Given the description of an element on the screen output the (x, y) to click on. 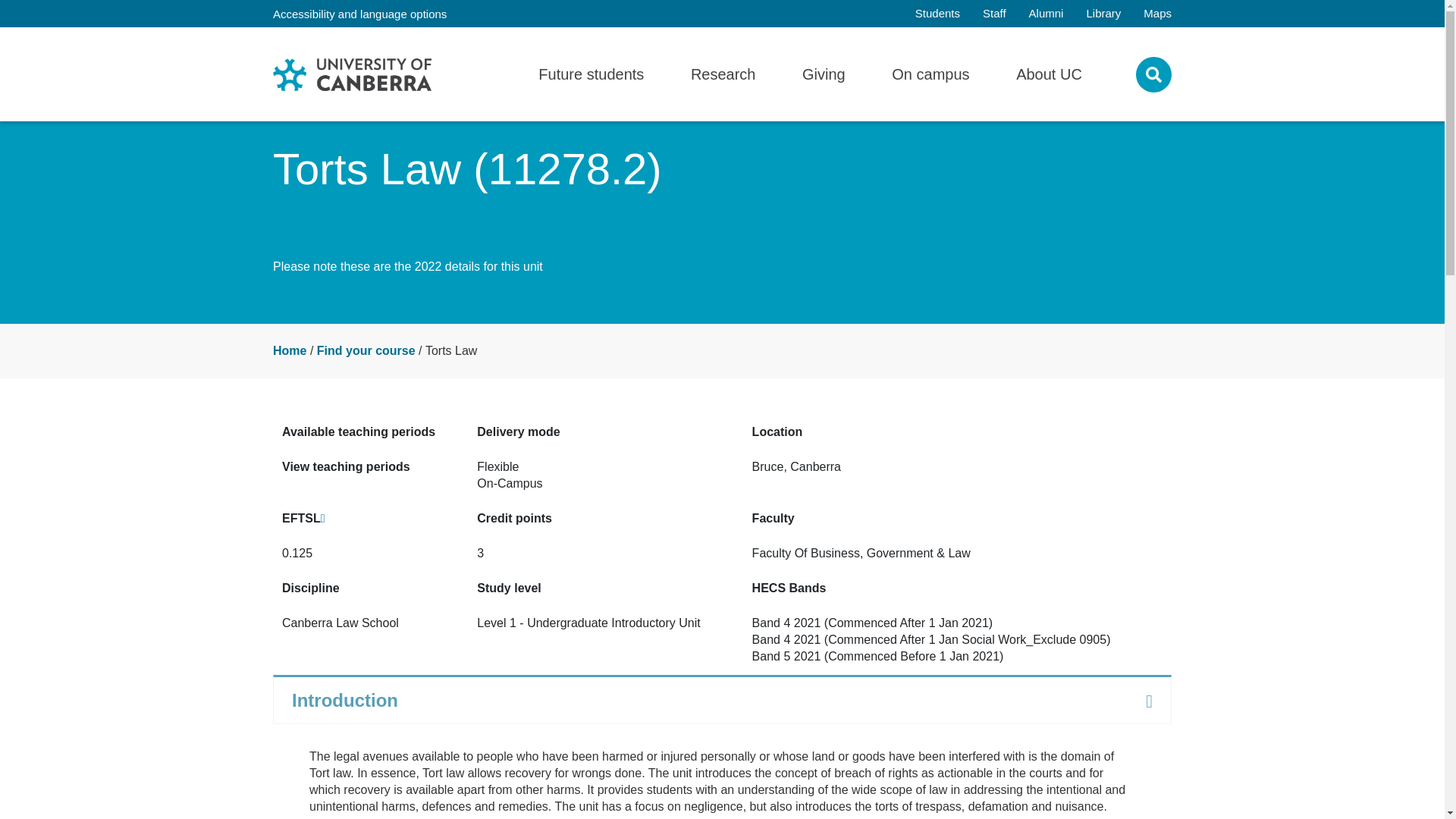
Search (1108, 73)
Future students (590, 74)
University of Canberra home page (351, 73)
Research (722, 74)
